Given the description of an element on the screen output the (x, y) to click on. 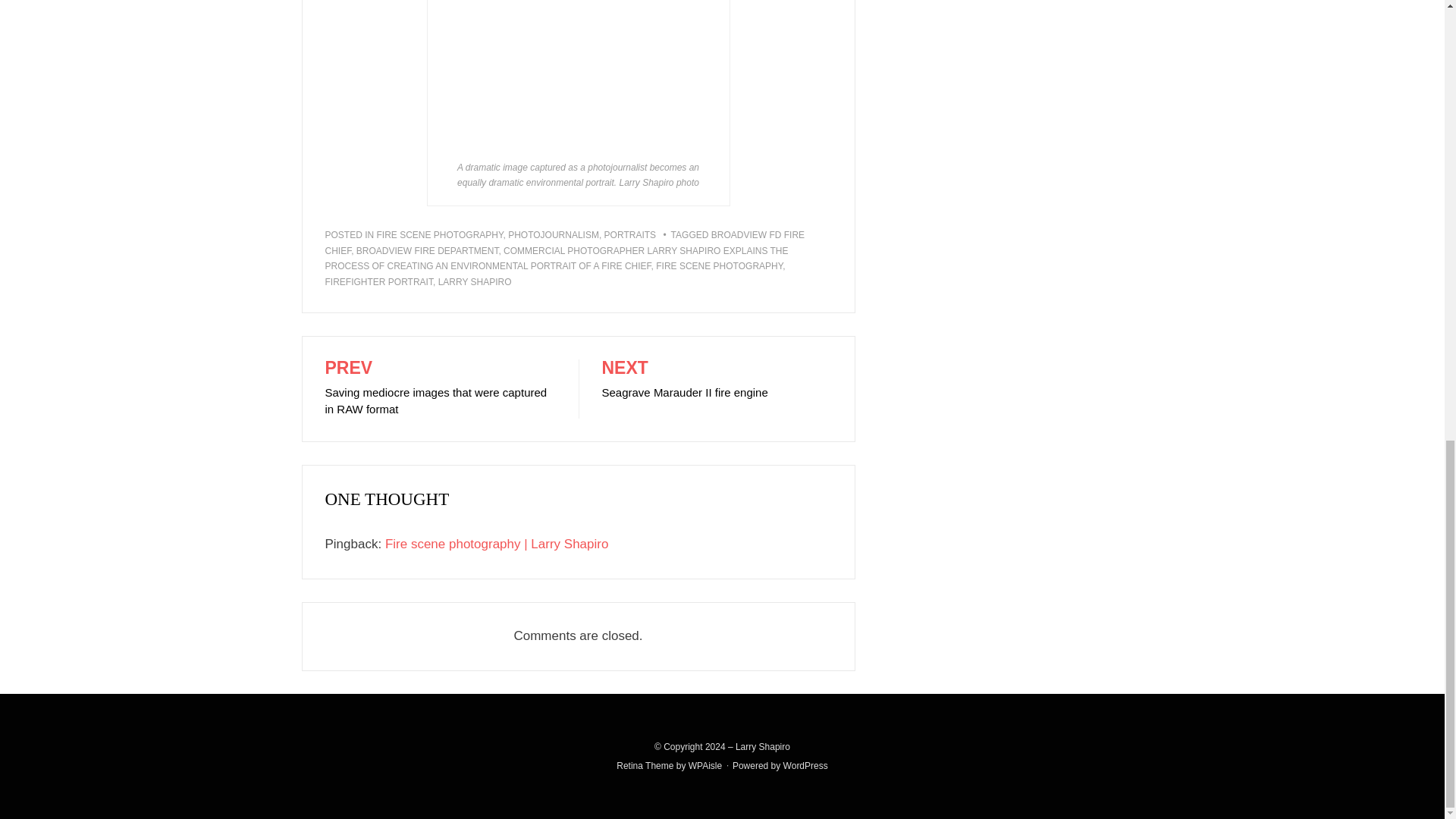
PHOTOJOURNALISM (553, 235)
WPAisle (439, 388)
FIREFIGHTER PORTRAIT (705, 765)
LARRY SHAPIRO (378, 281)
WPAisle (475, 281)
PORTRAITS (705, 765)
FIRE SCENE PHOTOGRAPHY (630, 235)
WordPress (719, 266)
